Given the description of an element on the screen output the (x, y) to click on. 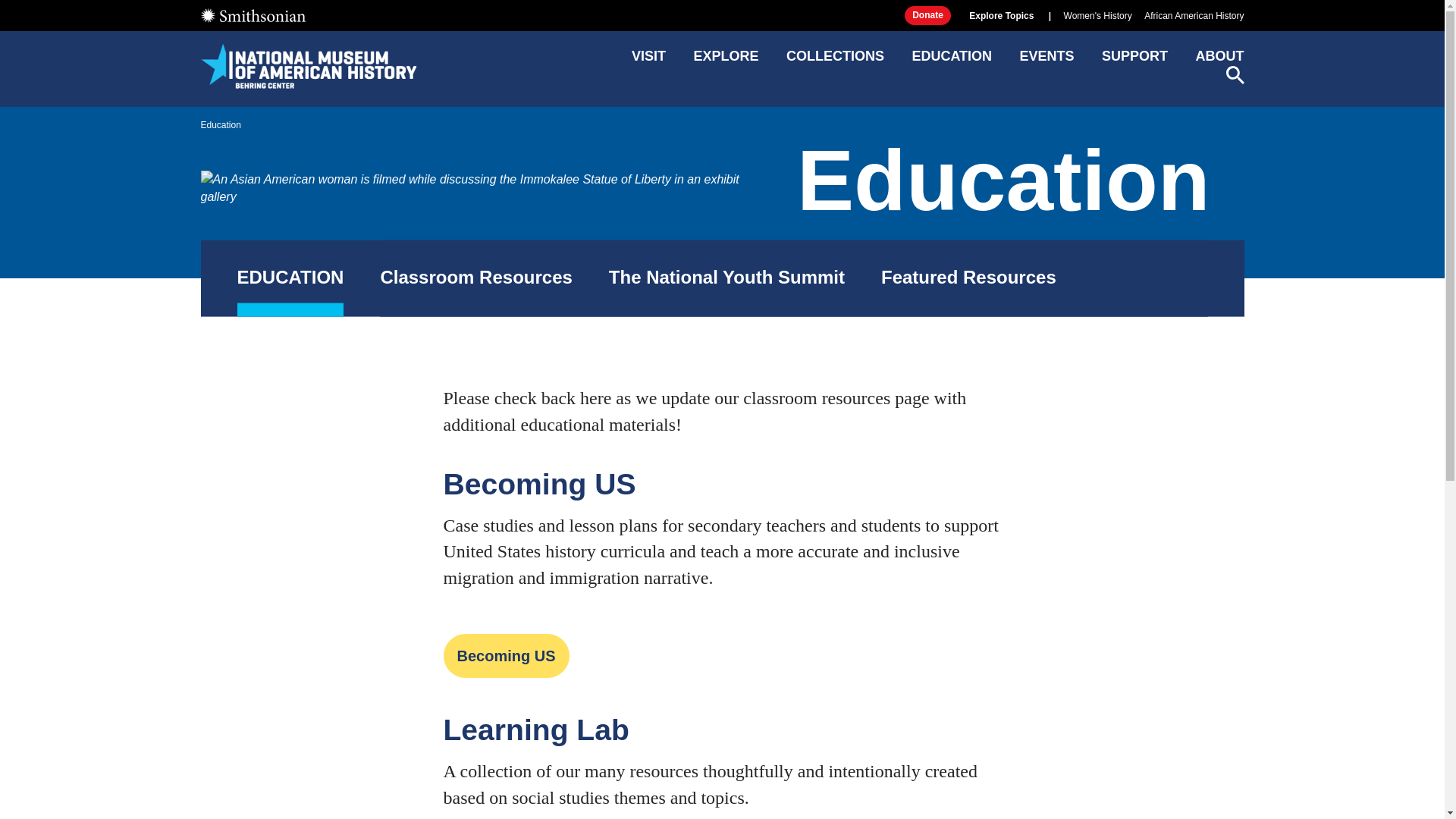
EVENTS (1047, 60)
Donate (927, 15)
EDUCATION (289, 278)
Featured Resources (968, 278)
Classroom Resources (476, 278)
National Museum of American History (308, 65)
SUPPORT (1134, 60)
Women's History (1098, 15)
EXPLORE (725, 60)
Skip to main content (721, 12)
